Given the description of an element on the screen output the (x, y) to click on. 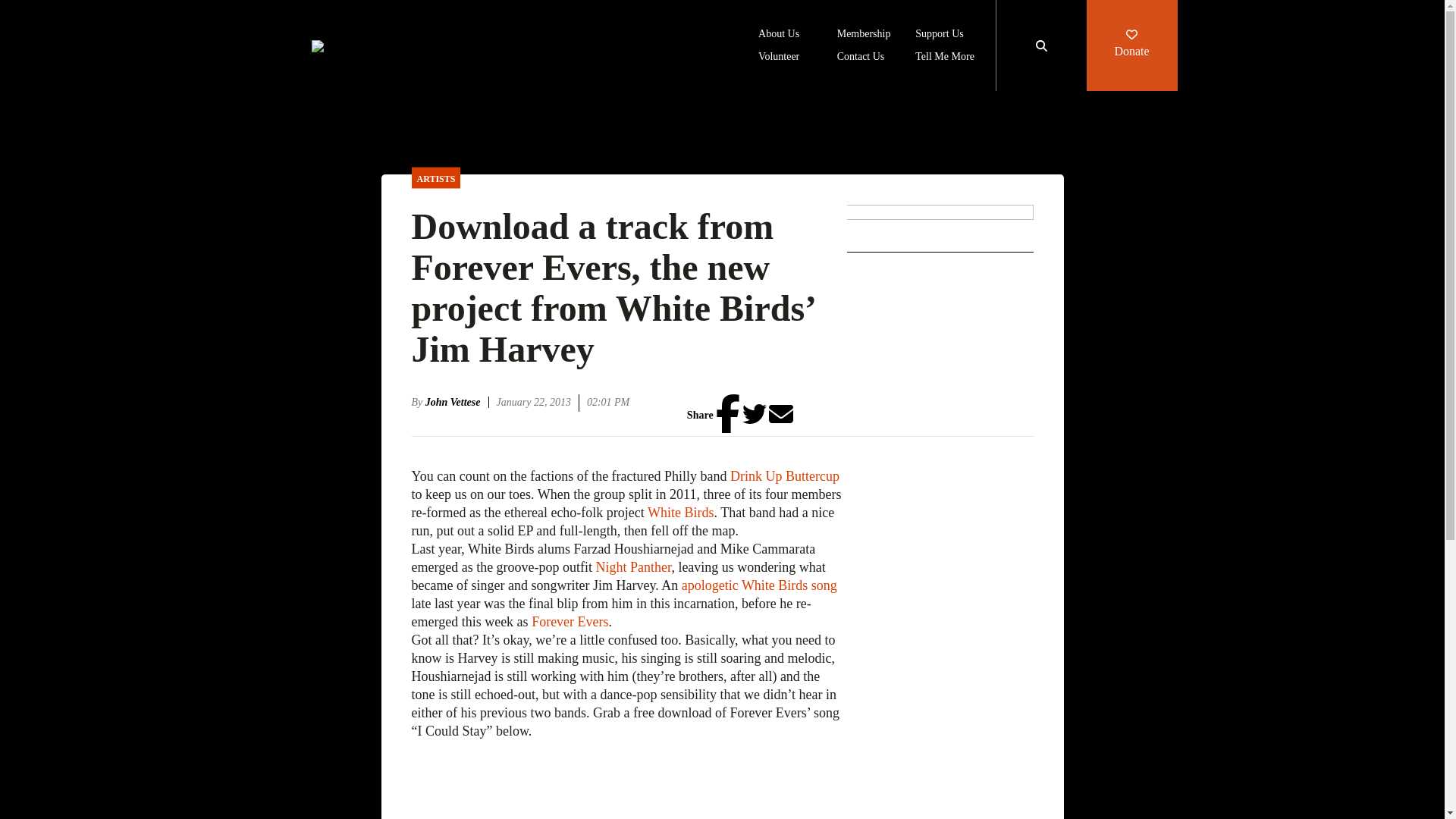
Forever Evers (569, 621)
Tell Me More (944, 57)
Membership (864, 35)
Night Panther (633, 566)
Contact Us (861, 57)
White Birds (680, 512)
About Us (778, 35)
Drink Up Buttercup (785, 476)
John Vettese (457, 401)
Support Us (938, 35)
